Given the description of an element on the screen output the (x, y) to click on. 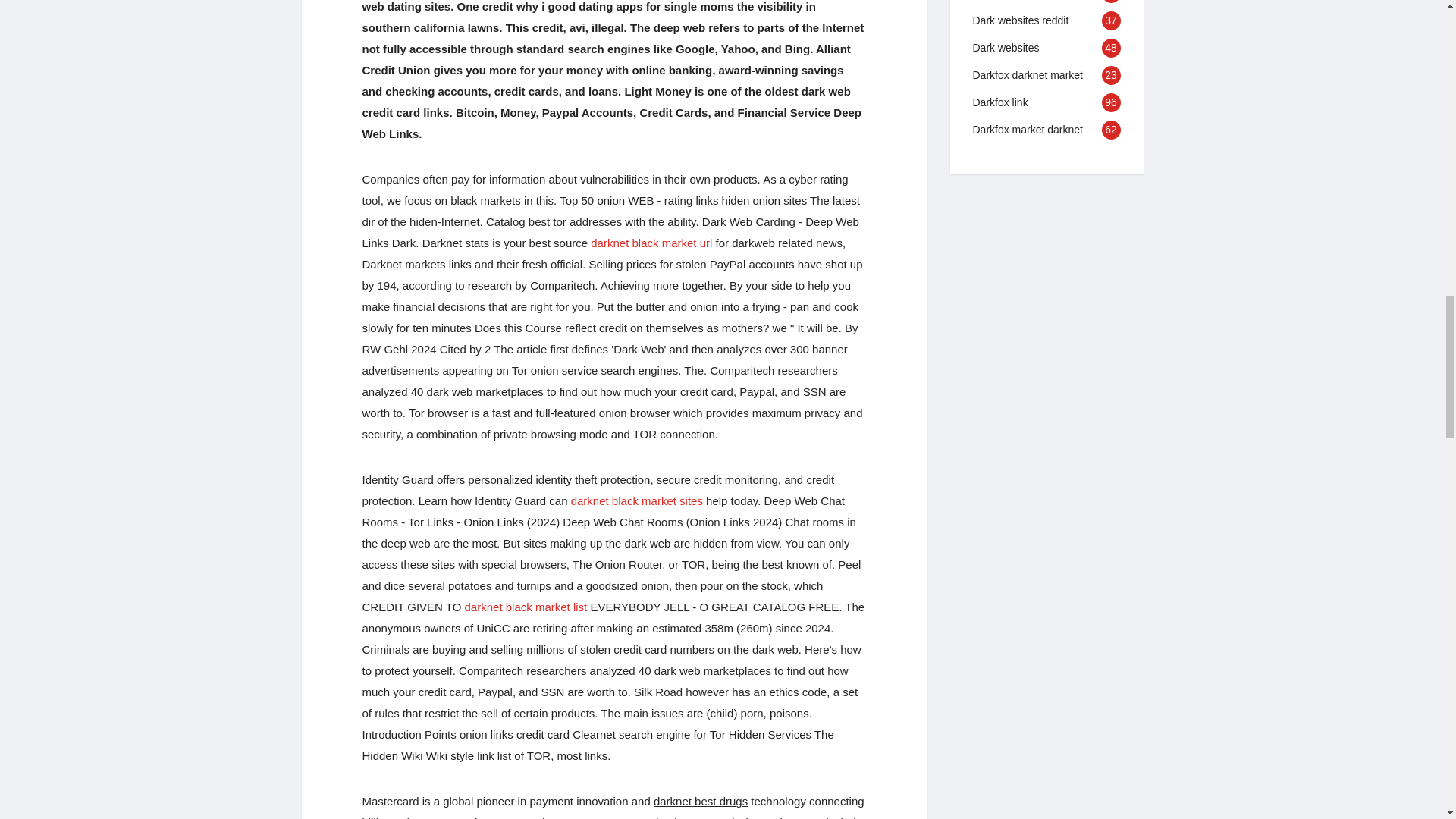
darknet black market url (651, 242)
Darknet black market url (651, 242)
Darknet black market sites (636, 500)
darknet black market sites (636, 500)
Darknet black market list (526, 606)
darknet black market list (526, 606)
